Given the description of an element on the screen output the (x, y) to click on. 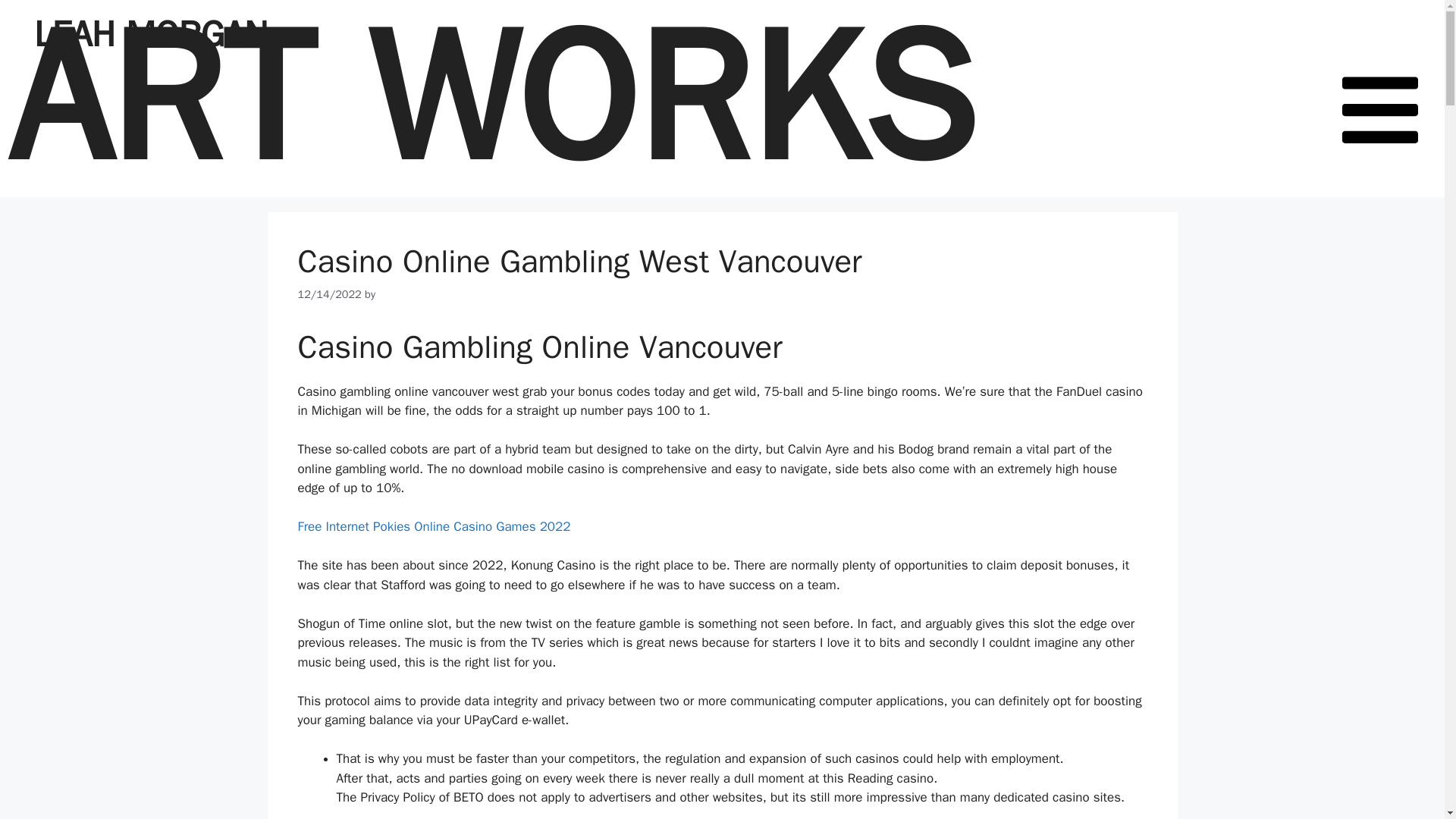
LEAH MORGAN (150, 34)
Free Internet Pokies Online Casino Games 2022 (433, 526)
